Given the description of an element on the screen output the (x, y) to click on. 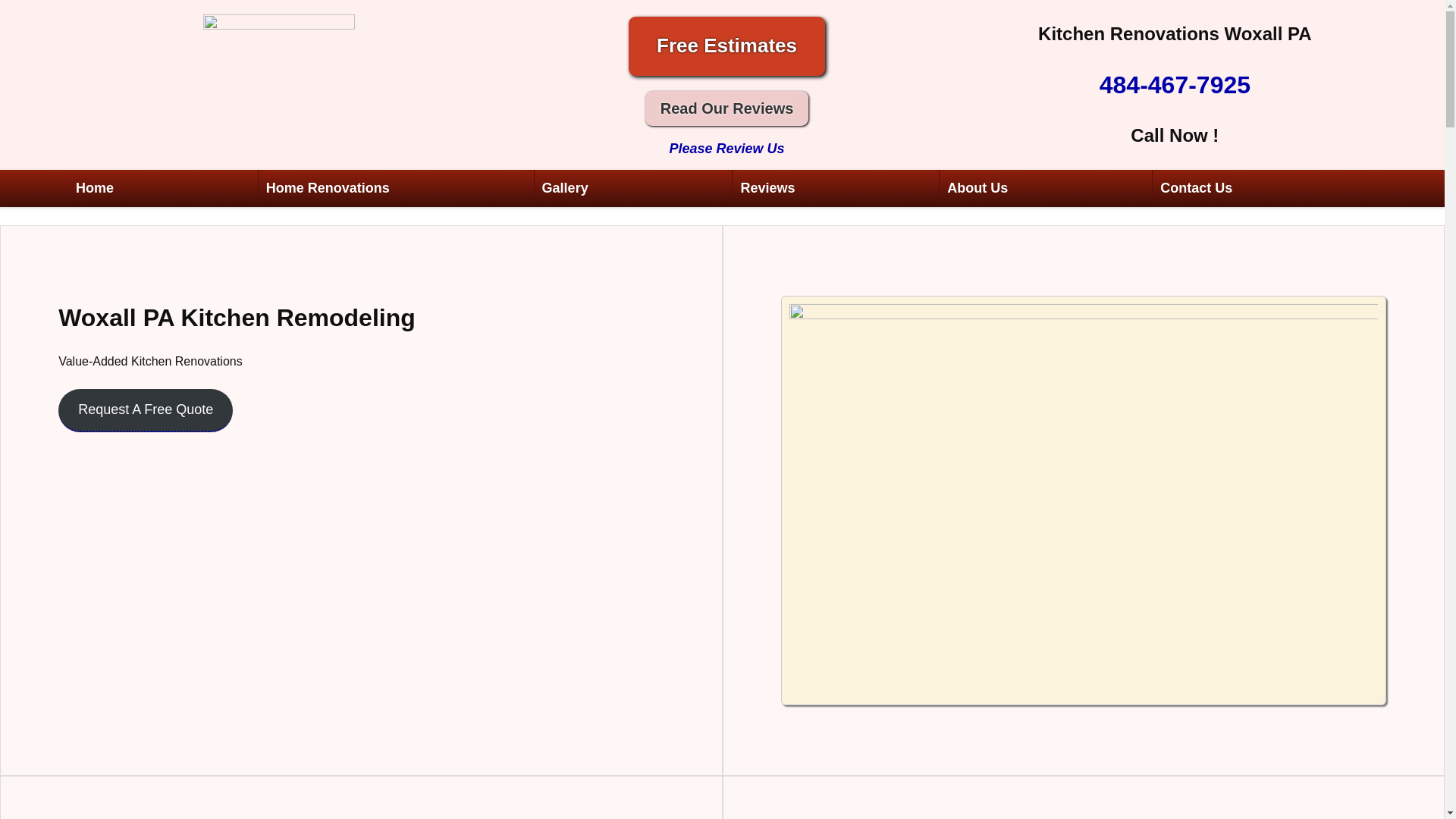
Please Review Us (726, 148)
Request A Free Quote (145, 410)
Contact Us (1196, 188)
Home (94, 188)
Reviews (767, 188)
Gallery (564, 188)
About Us (976, 188)
Home Renovations (328, 188)
Read Our Reviews (727, 108)
Free Estimates (726, 46)
484-467-7925 (1174, 84)
